Given the description of an element on the screen output the (x, y) to click on. 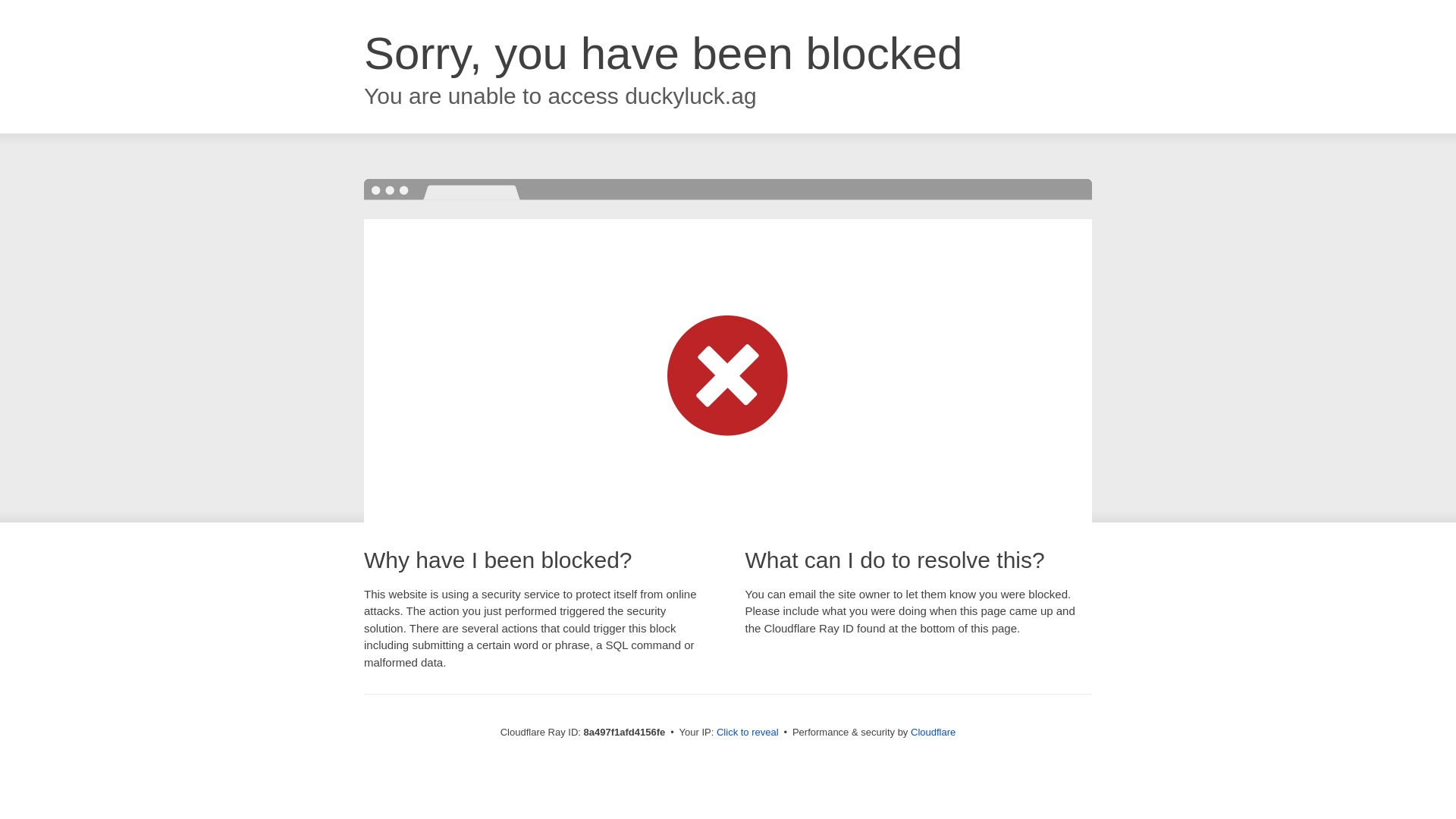
Cloudflare (933, 731)
Click to reveal (747, 732)
